Given the description of an element on the screen output the (x, y) to click on. 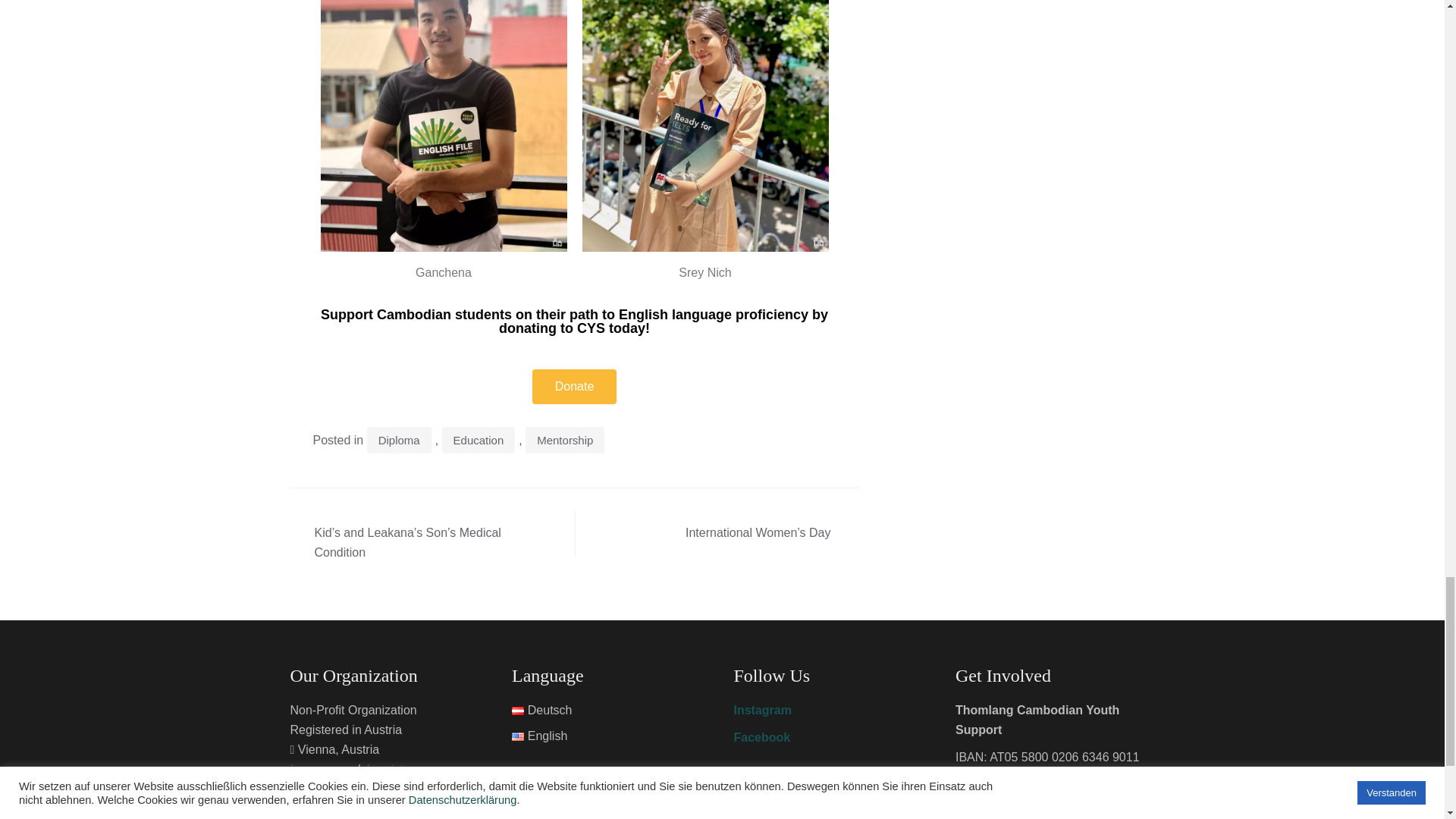
Donate (574, 386)
Diploma (398, 439)
Mentorship (564, 439)
Education (478, 439)
